Given the description of an element on the screen output the (x, y) to click on. 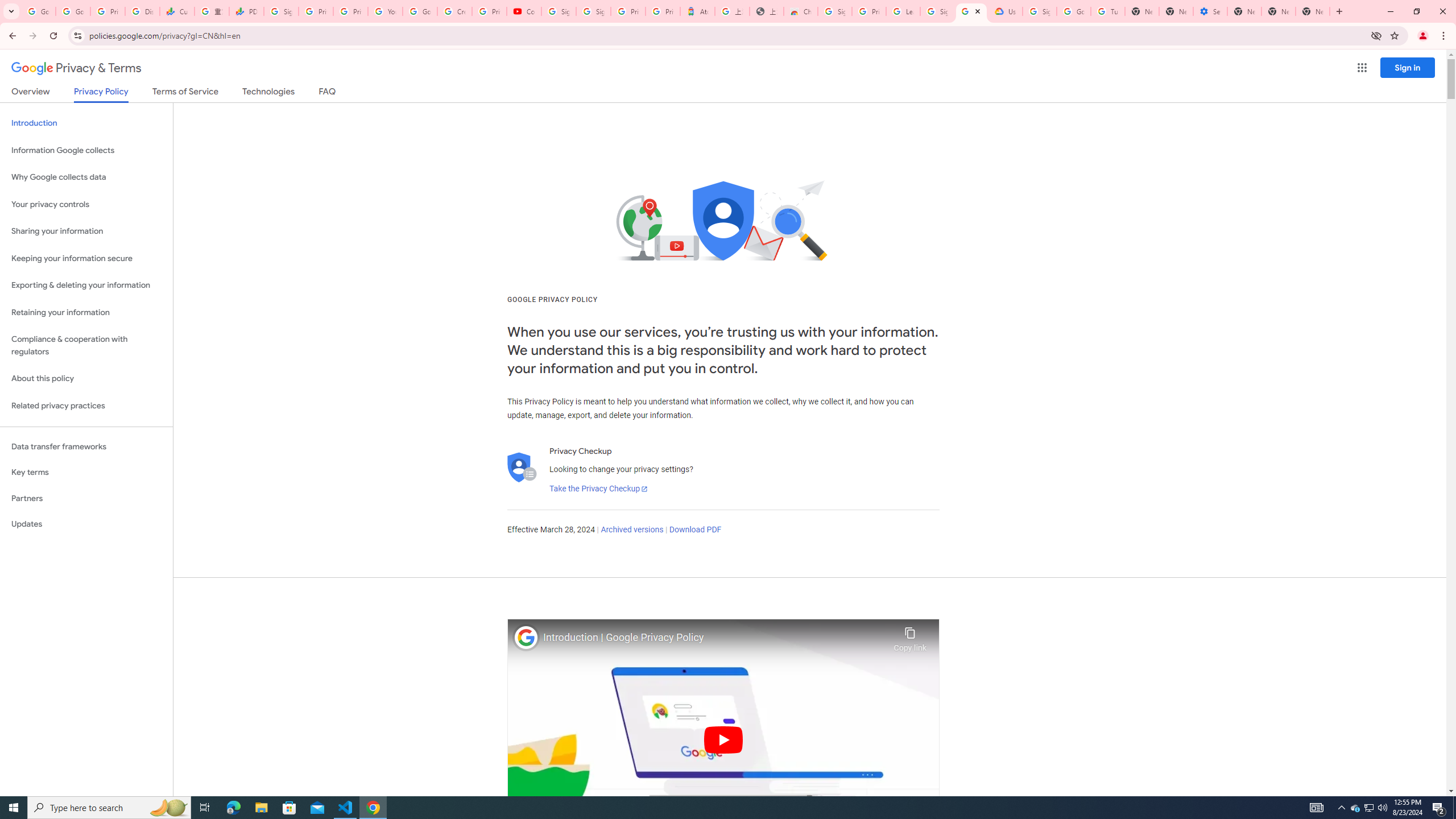
Turn cookies on or off - Computer - Google Account Help (1107, 11)
Partners (86, 497)
Sign in - Google Accounts (834, 11)
Archived versions (631, 529)
